Given the description of an element on the screen output the (x, y) to click on. 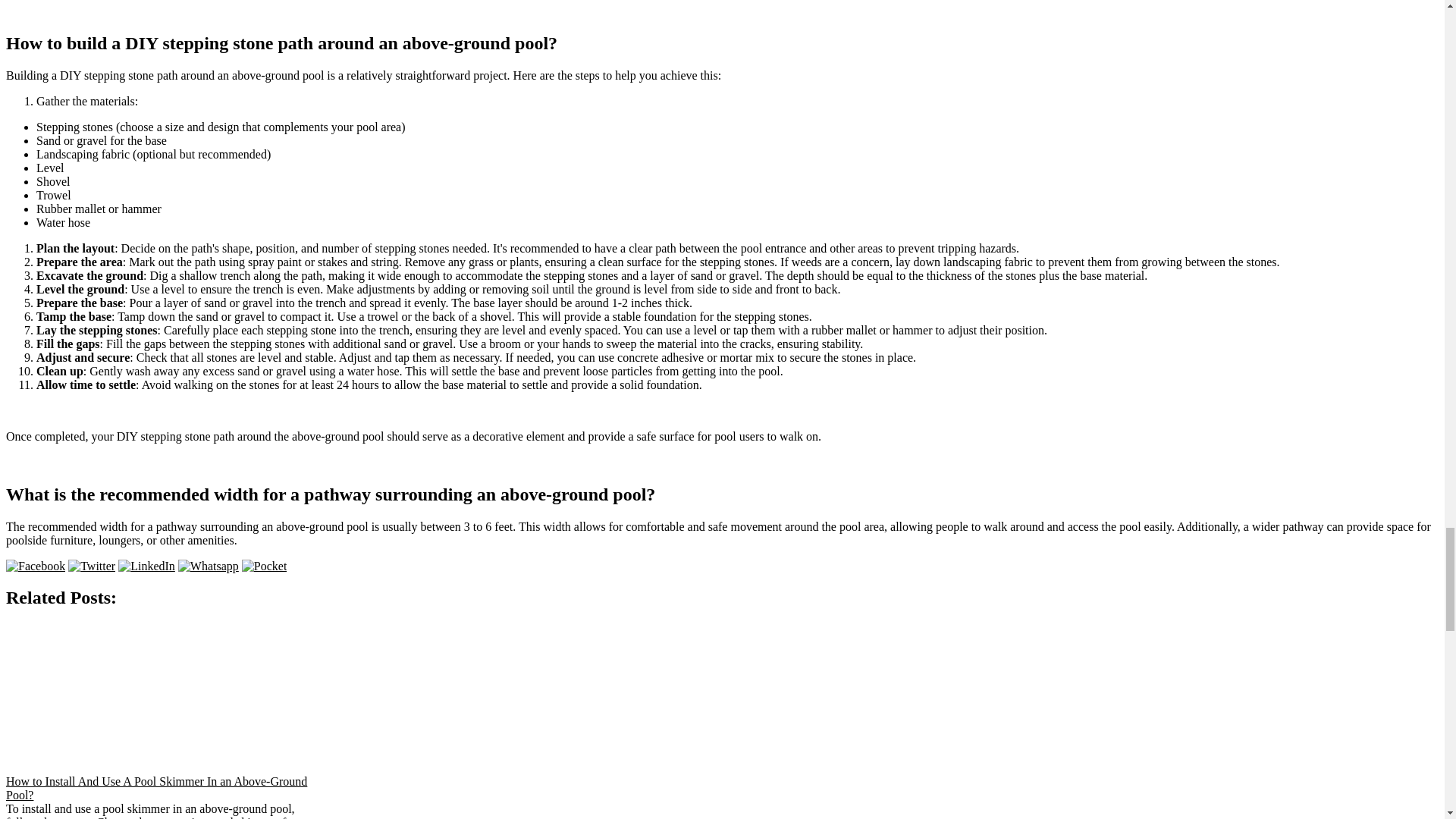
Facebook (35, 565)
Pocket (263, 565)
Twitter (91, 565)
LinkedIn (145, 565)
Whatsapp (207, 565)
